Given the description of an element on the screen output the (x, y) to click on. 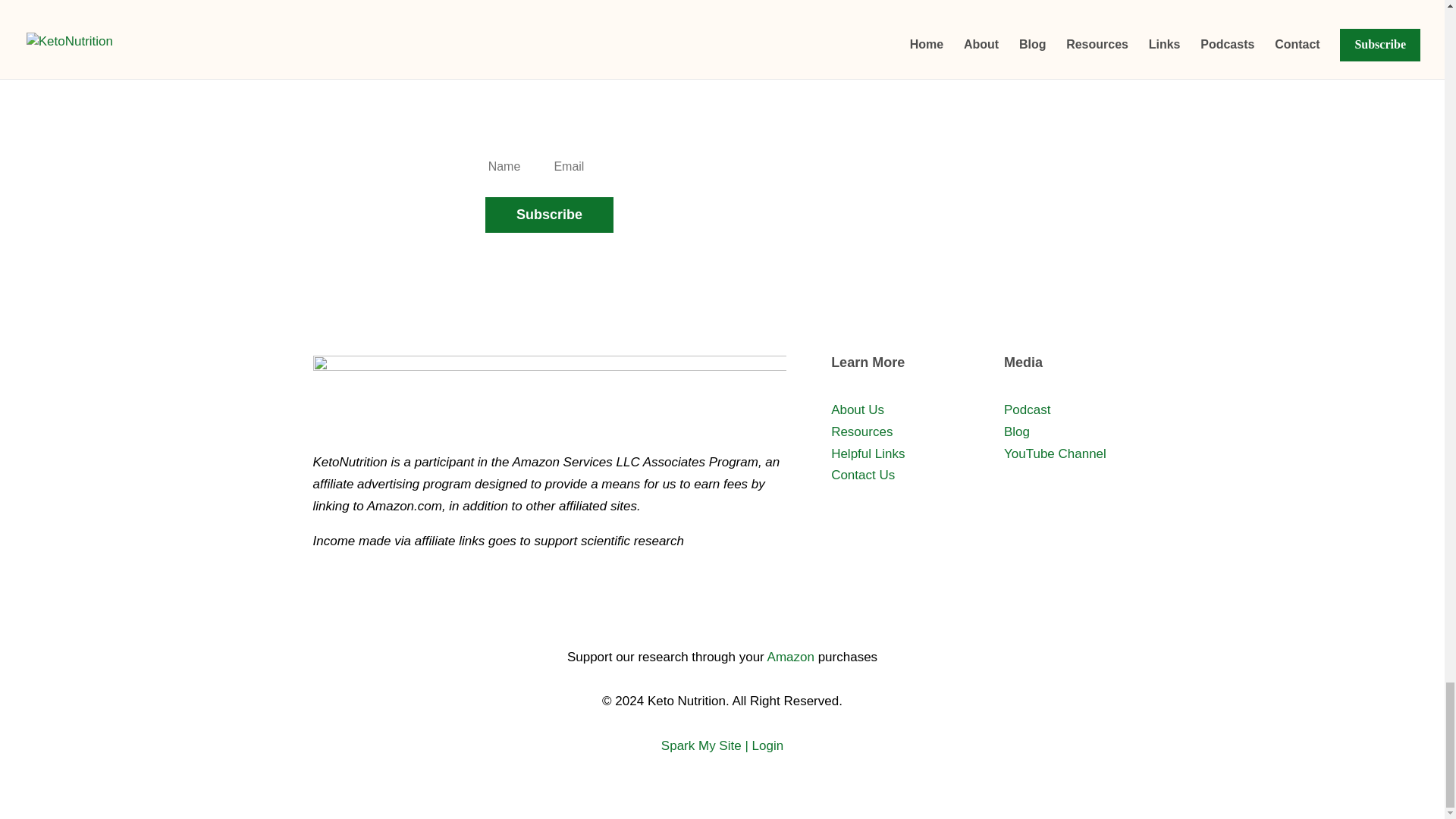
Helpful Links (867, 453)
Follow on Instagram (766, 605)
Follow on Youtube (737, 605)
Follow on X (706, 605)
Subscribe (548, 214)
Resources (861, 431)
Follow on Facebook (675, 605)
Contact Us (863, 474)
About Us (857, 409)
